Given the description of an element on the screen output the (x, y) to click on. 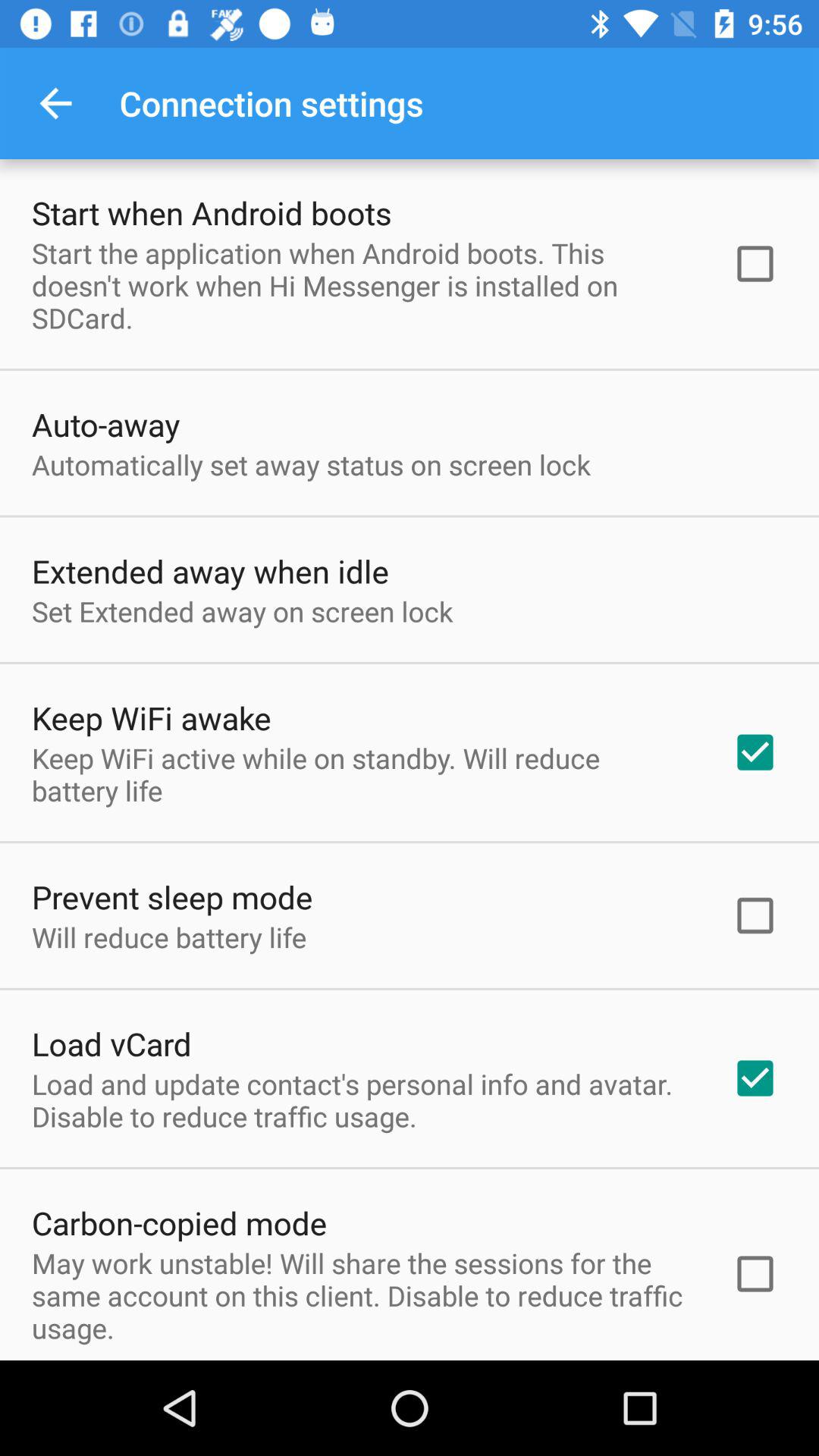
turn on may work unstable icon (361, 1295)
